Given the description of an element on the screen output the (x, y) to click on. 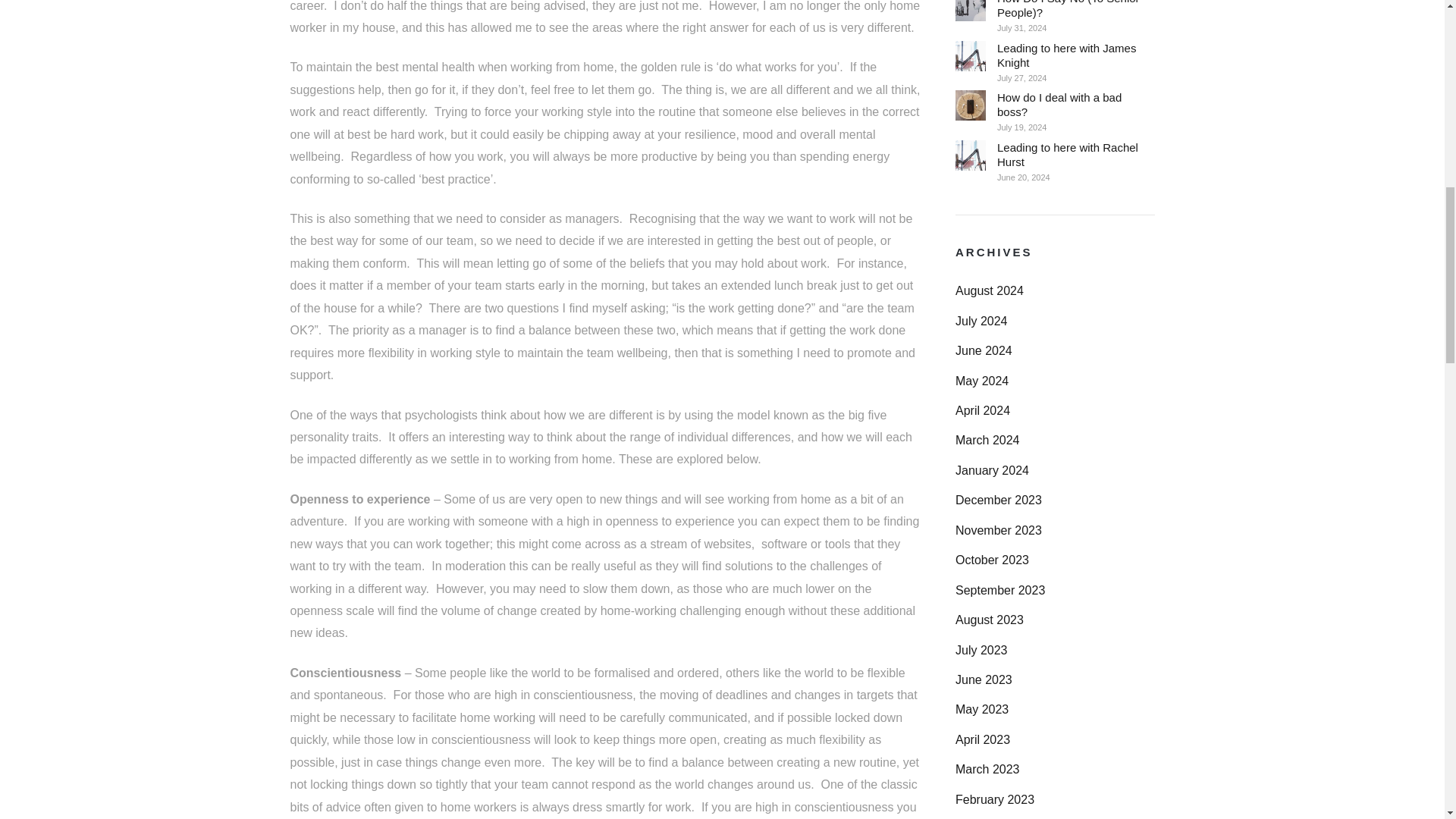
Leading to here with Rachel Hurst (1075, 154)
Leading to here with James Knight (970, 55)
Leading to here with James Knight (1075, 54)
How do I deal with a bad boss? (970, 105)
How do I deal with a bad boss? (1075, 104)
Leading to here with Rachel Hurst (970, 155)
